Given the description of an element on the screen output the (x, y) to click on. 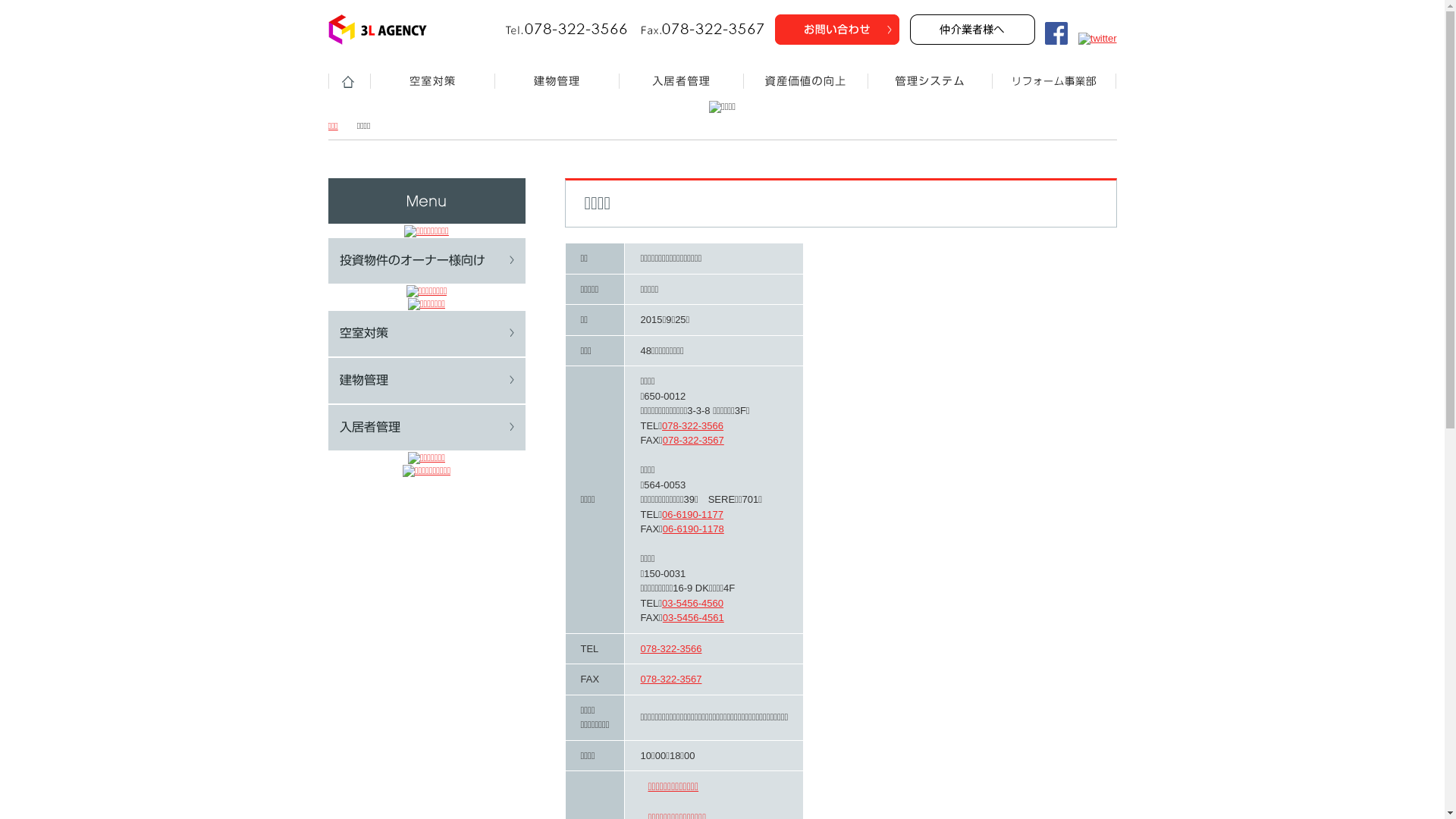
078-322-3566 Element type: text (692, 425)
078-322-3566 Element type: text (670, 648)
03-5456-4561 Element type: text (693, 617)
078-322-3567 Element type: text (693, 439)
06-6190-1178 Element type: text (693, 528)
06-6190-1177 Element type: text (692, 514)
078-322-3567 Element type: text (670, 678)
03-5456-4560 Element type: text (692, 602)
